Given the description of an element on the screen output the (x, y) to click on. 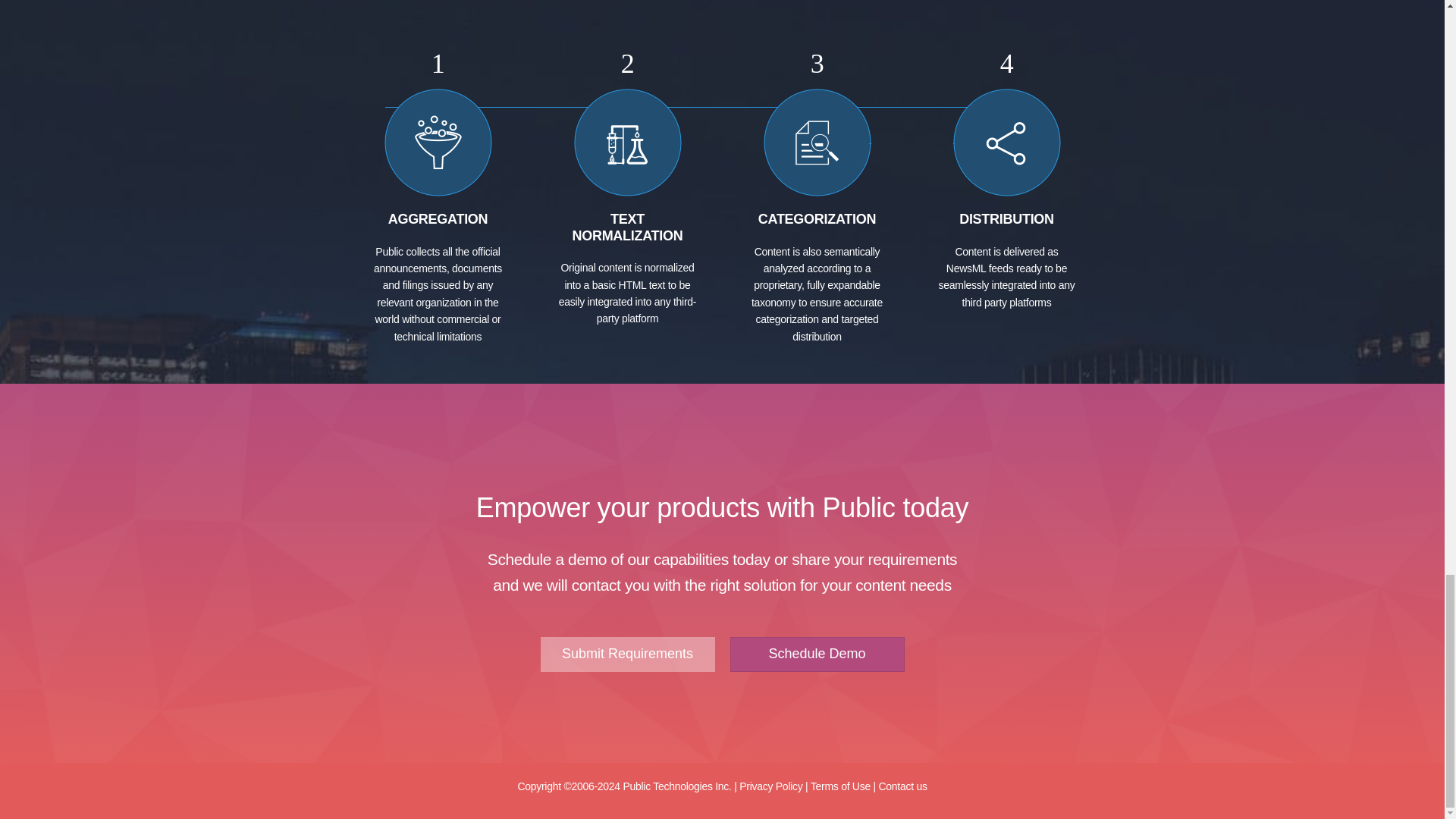
Send us your feedback (901, 786)
